Given the description of an element on the screen output the (x, y) to click on. 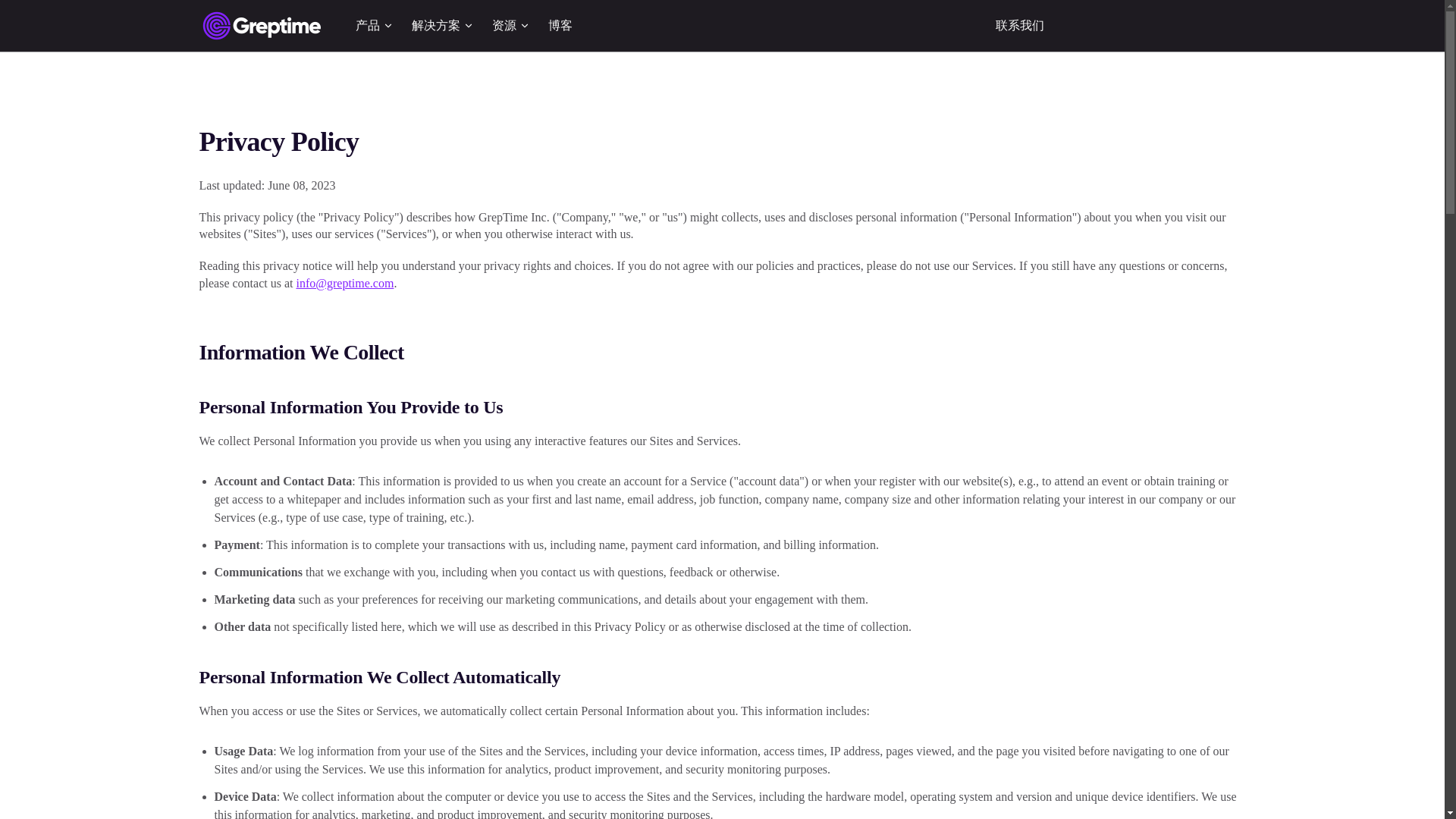
Skip to content (23, 16)
